Given the description of an element on the screen output the (x, y) to click on. 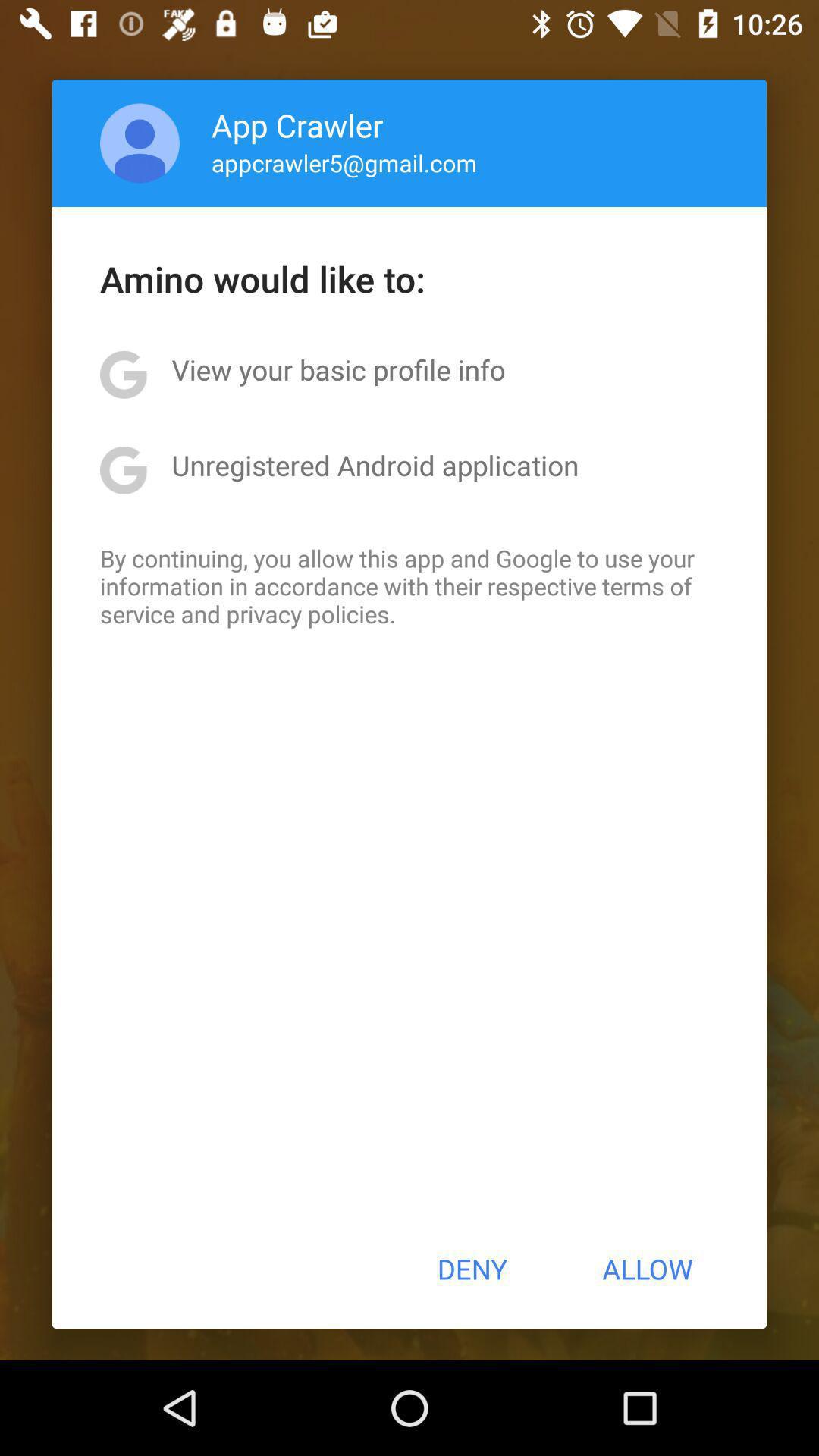
press icon below app crawler (344, 162)
